Given the description of an element on the screen output the (x, y) to click on. 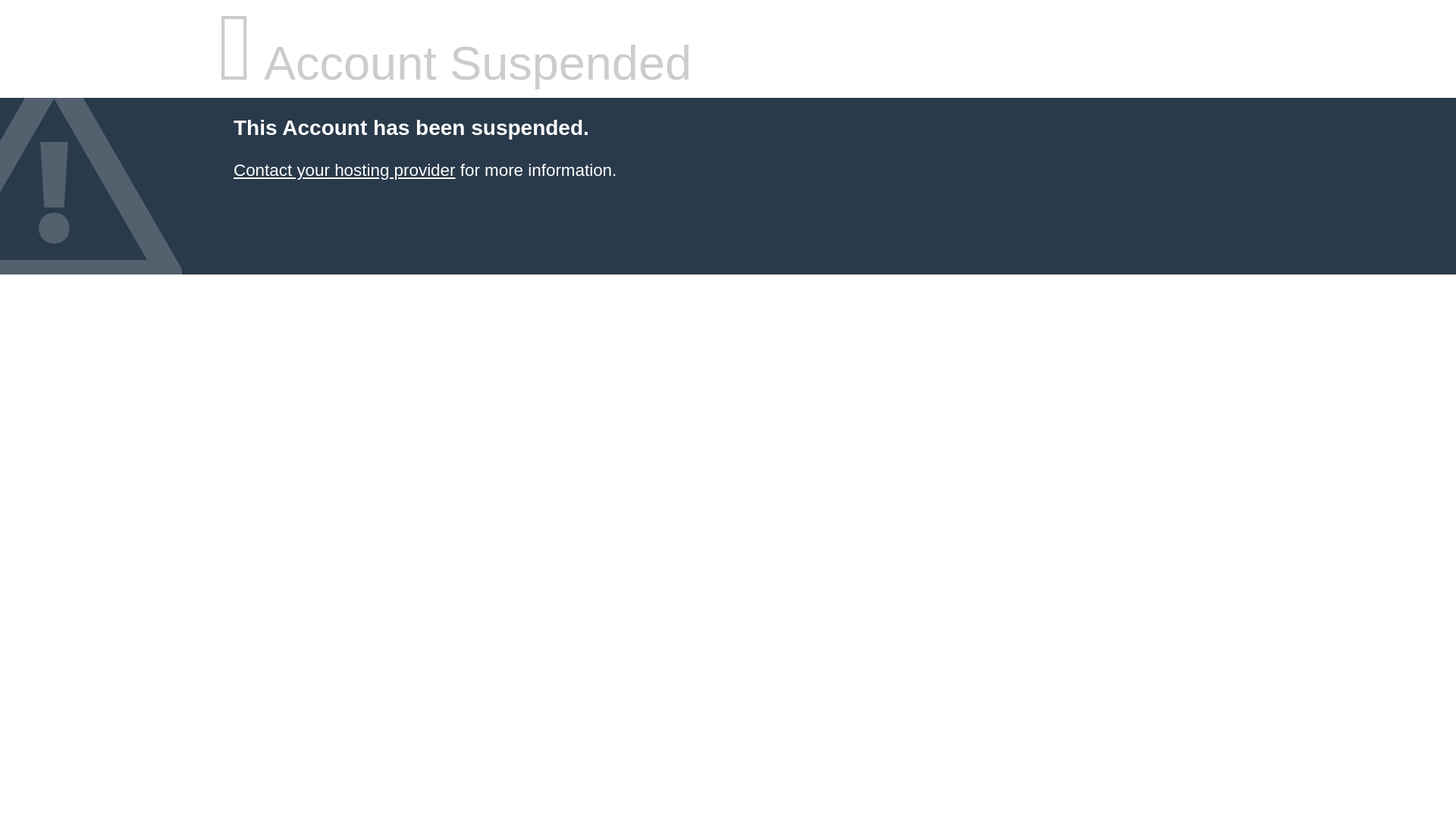
Contact your hosting provider (343, 169)
